Given the description of an element on the screen output the (x, y) to click on. 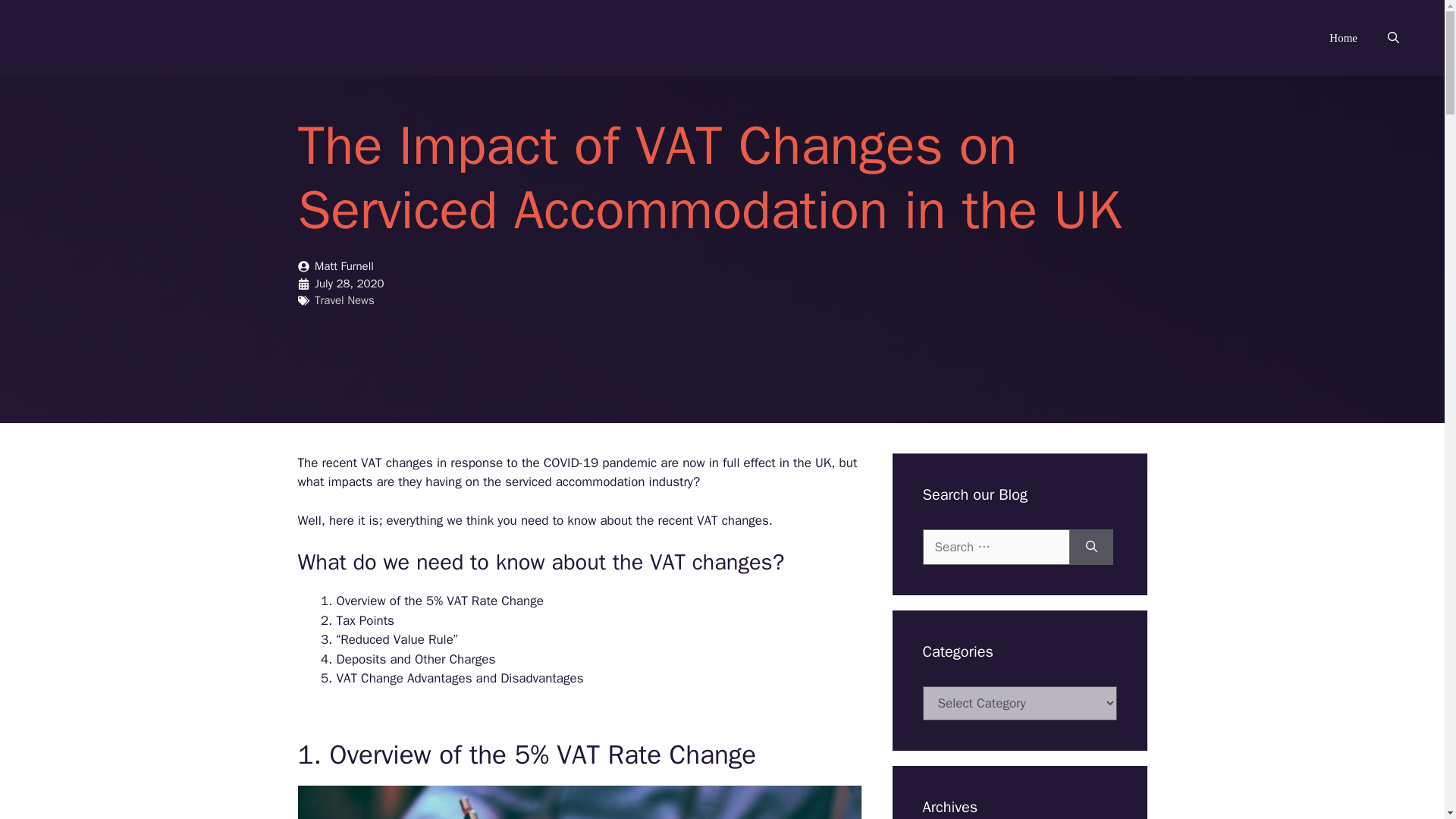
VAT Change Advantages and Disadvantages (459, 678)
Travel News (344, 300)
Situ Blog (61, 37)
Home (1343, 37)
Deposits and Other Charges (416, 659)
Tax Points (365, 620)
Search for: (994, 547)
we (453, 520)
